Given the description of an element on the screen output the (x, y) to click on. 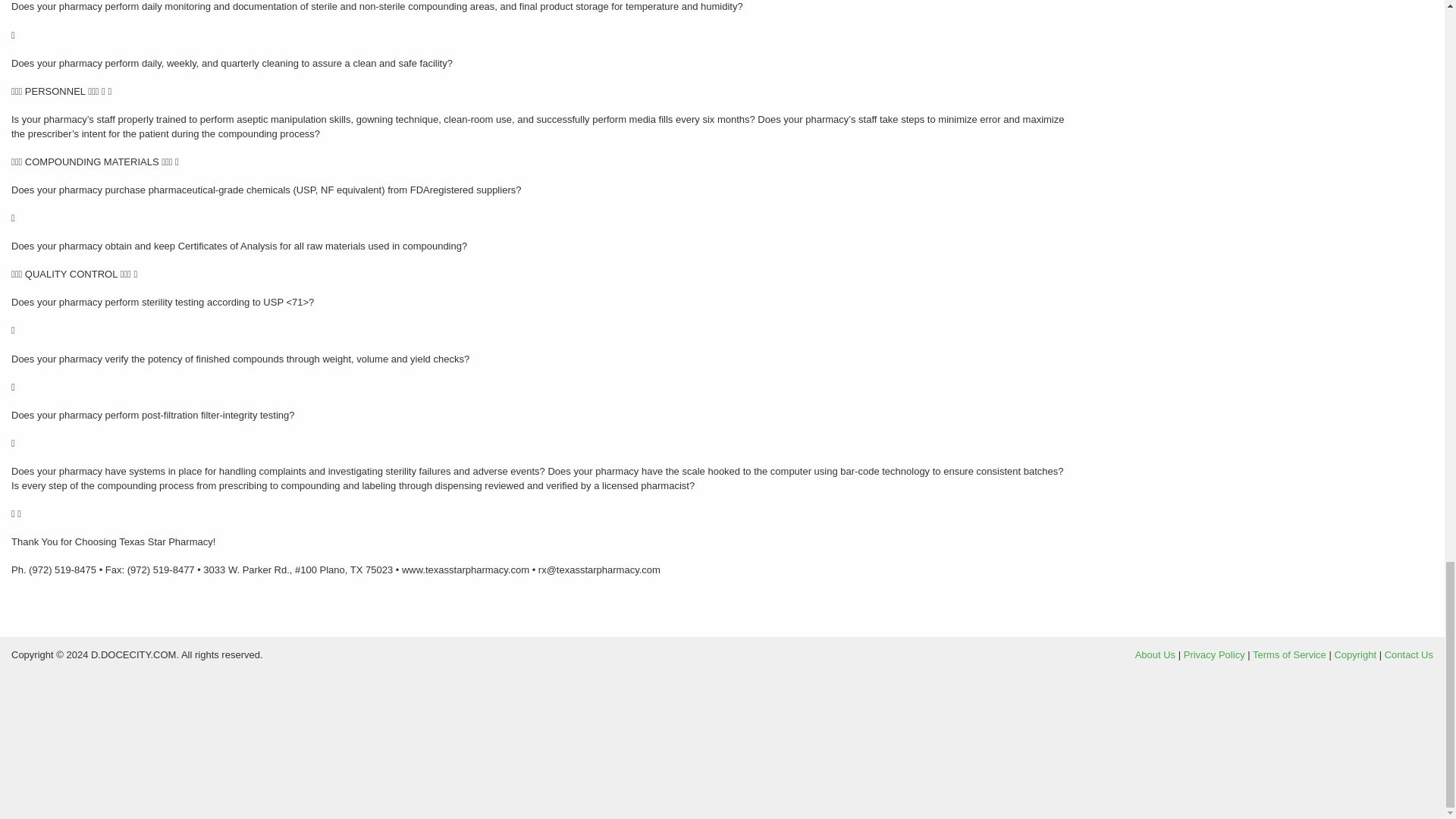
Privacy Policy (1213, 654)
Terms of Service (1289, 654)
About Us (1154, 654)
Contact Us (1408, 654)
Copyright (1354, 654)
